Given the description of an element on the screen output the (x, y) to click on. 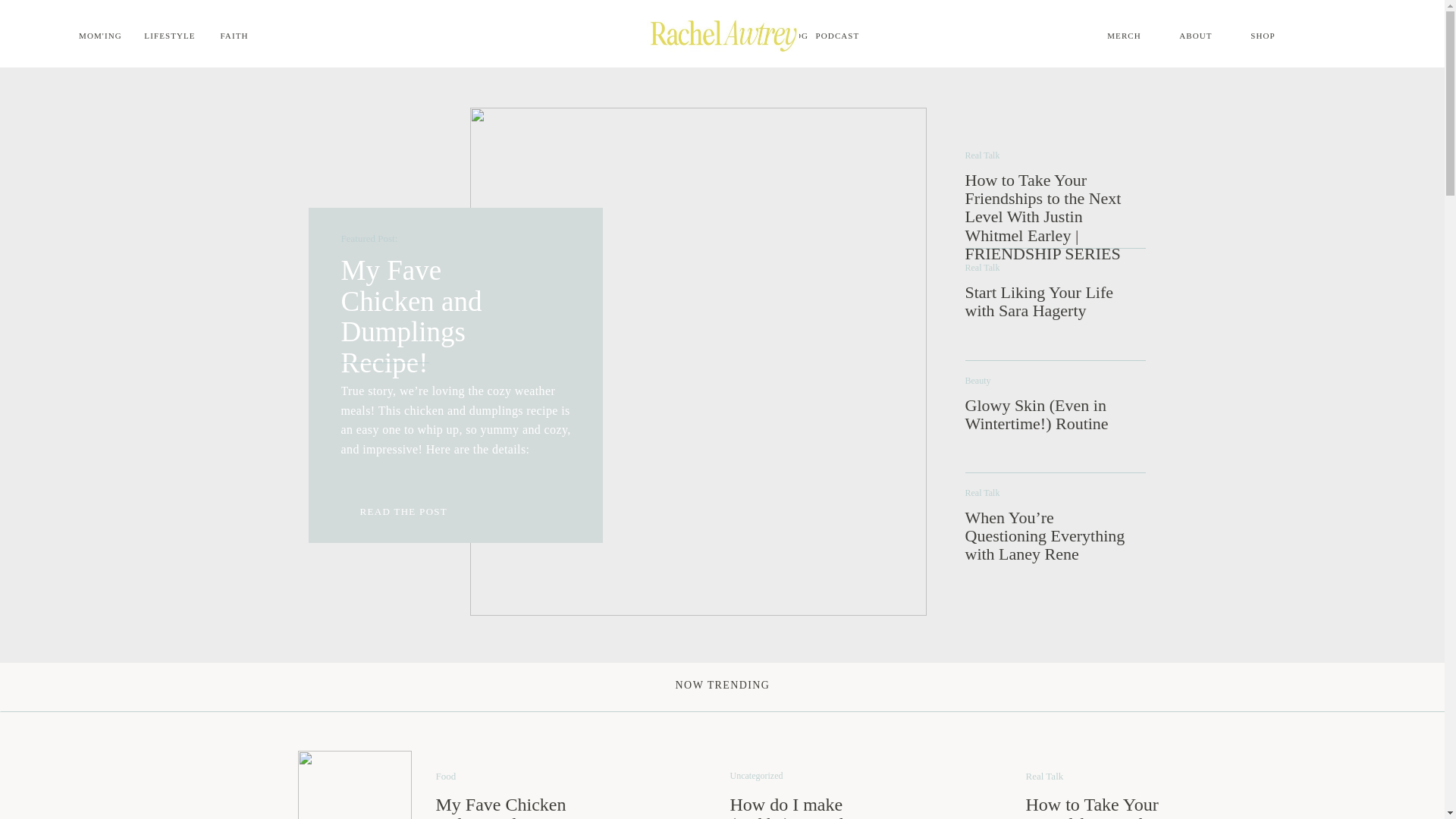
MOM'ING (96, 37)
READ THE POST (409, 511)
Real Talk (980, 267)
Beauty (976, 380)
Real Talk (980, 154)
SHOP (1263, 37)
MERCH (1123, 37)
LIFESTYLE (169, 37)
ABOUT (1196, 37)
